Given the description of an element on the screen output the (x, y) to click on. 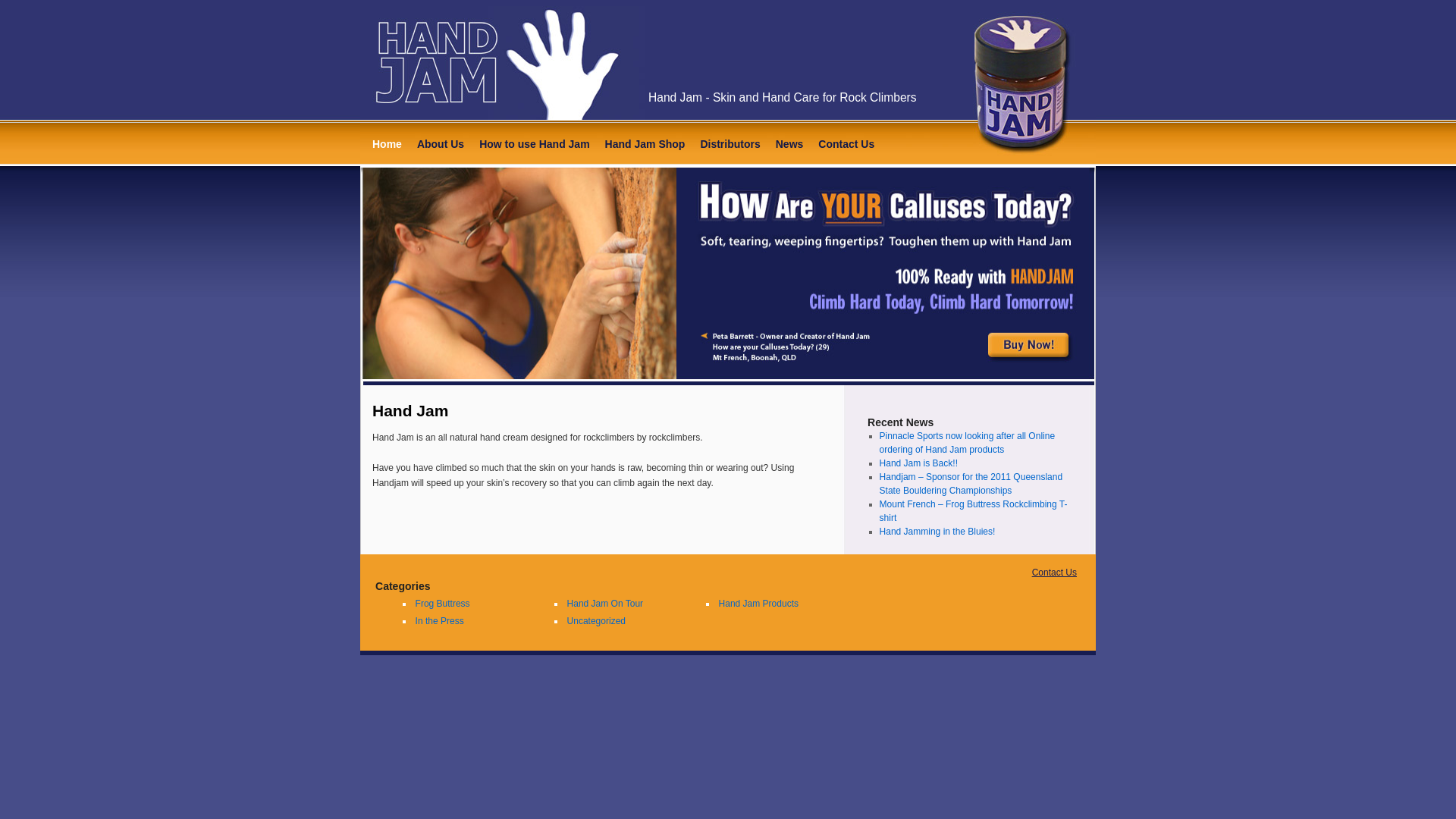
Hand Jamming in the Bluies! Element type: text (937, 531)
Hand Jam Products Element type: text (758, 603)
Home Element type: text (386, 144)
Uncategorized Element type: text (596, 620)
About Us Element type: text (440, 144)
News Element type: text (789, 144)
Hand Jam Element type: text (410, 410)
Frog Buttress Element type: text (442, 603)
Contact Us Element type: text (1054, 572)
In the Press Element type: text (439, 620)
Contact Us Element type: text (845, 144)
Distributors Element type: text (729, 144)
Hand Jam On Tour Element type: text (605, 603)
Hand Jam is Back!! Element type: text (918, 463)
How to use Hand Jam Element type: text (533, 144)
Hand Jam Shop Element type: text (645, 144)
